Given the description of an element on the screen output the (x, y) to click on. 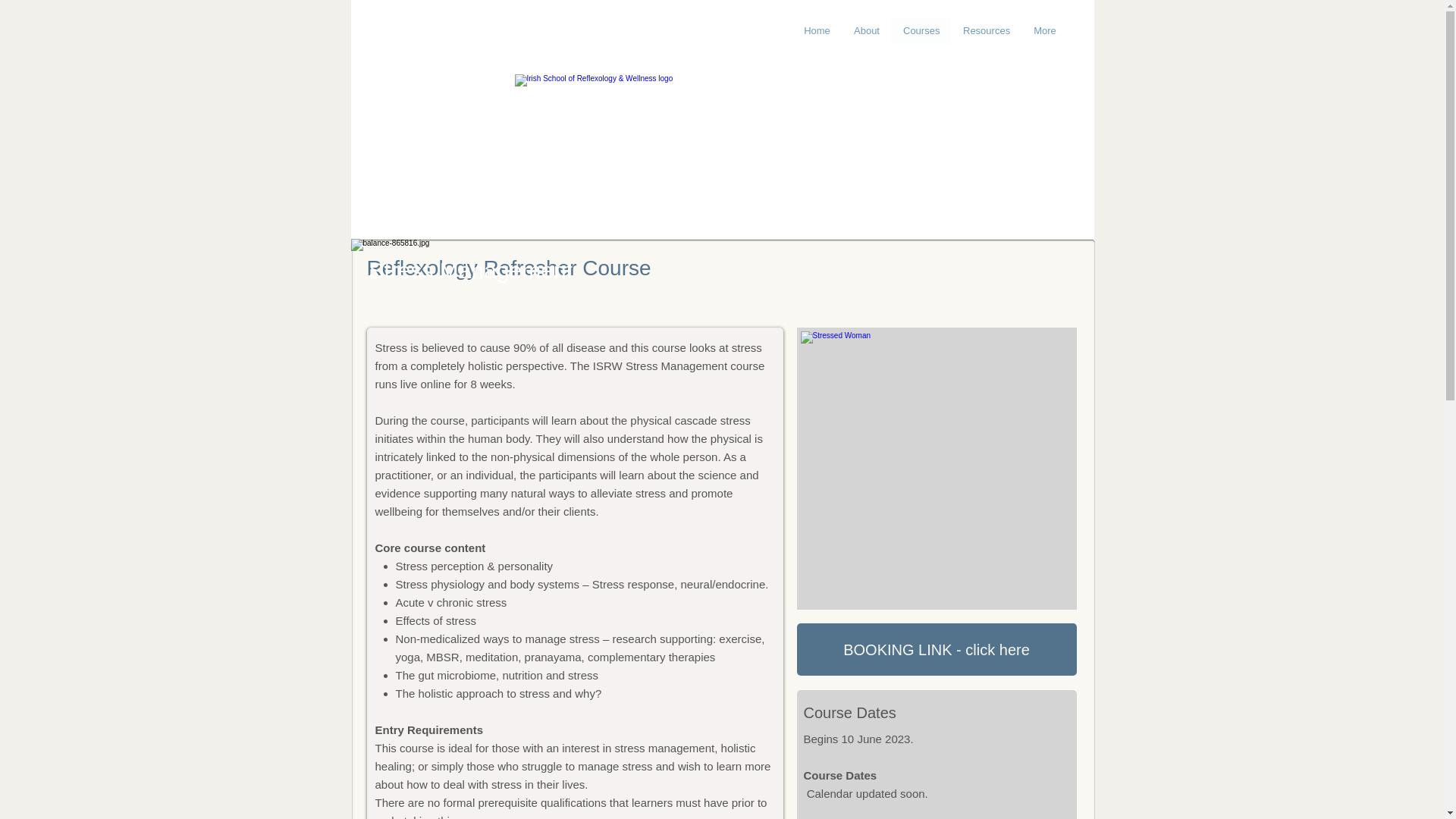
Courses (920, 31)
About (866, 31)
BOOKING LINK - click here (935, 649)
Resources (986, 31)
Home (816, 31)
